Given the description of an element on the screen output the (x, y) to click on. 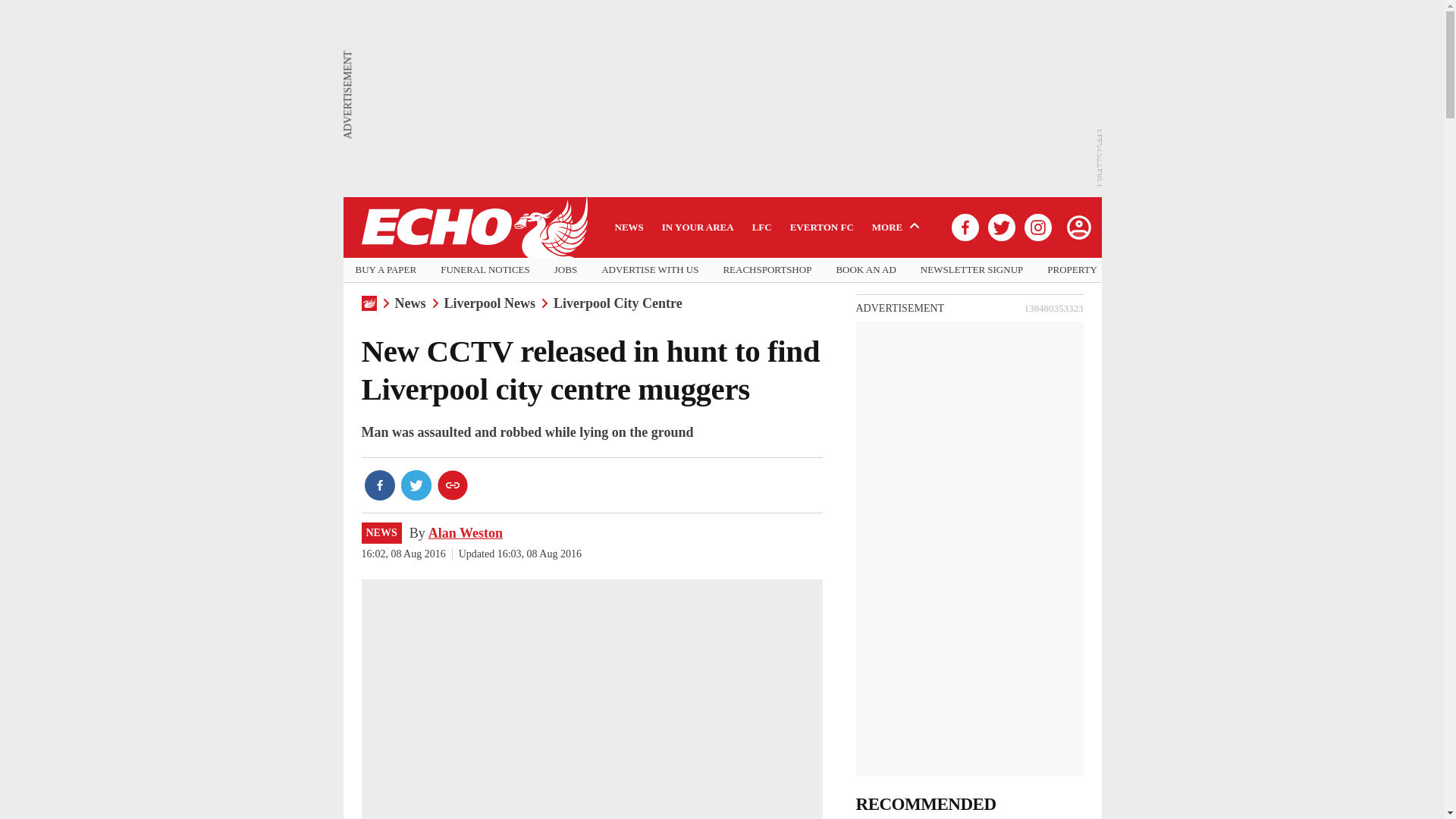
FUNERAL NOTICES (485, 270)
News (409, 303)
ADVERTISE WITH US (649, 270)
NEWS (381, 533)
avatar (1077, 227)
PROPERTY (1071, 270)
copy link (451, 485)
IN YOUR AREA (697, 227)
Liverpool City Centre (617, 303)
BOOK AN AD (865, 270)
EVERTON FC (821, 227)
MORE (897, 227)
Alan Weston (465, 532)
BUY A PAPER (385, 270)
